Given the description of an element on the screen output the (x, y) to click on. 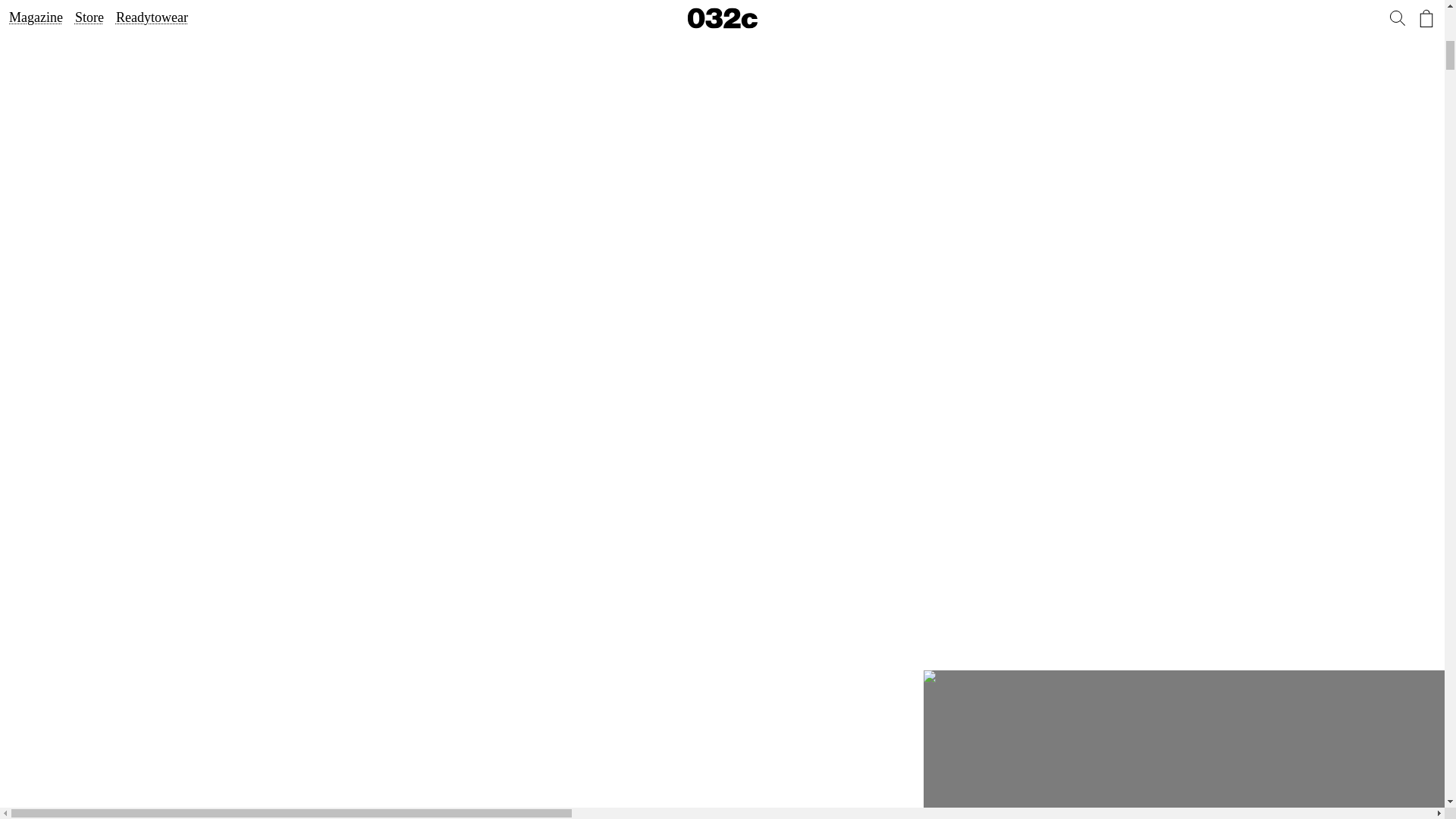
032c (1189, 744)
